Given the description of an element on the screen output the (x, y) to click on. 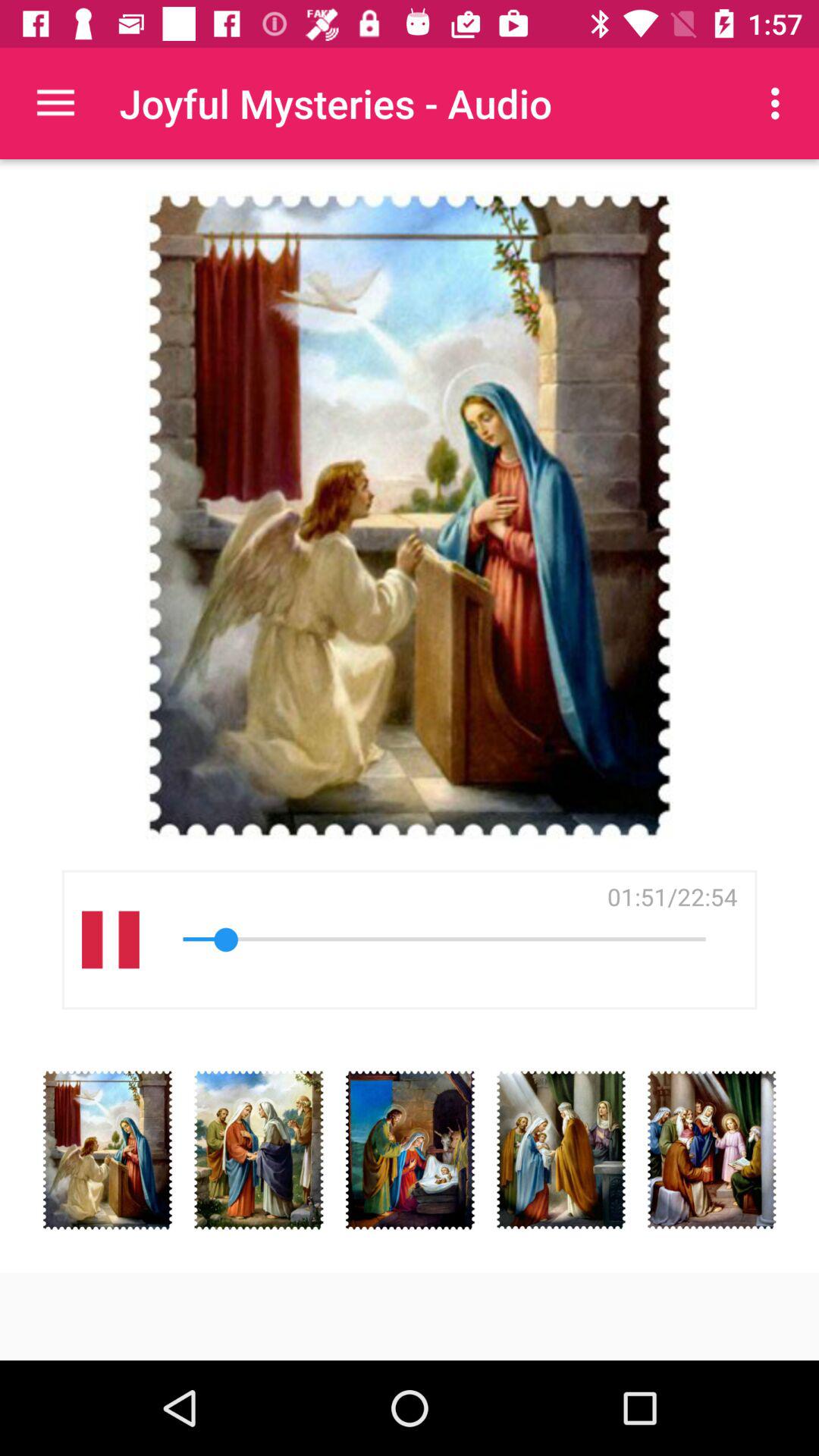
launch item to the left of the joyful mysteries - audio app (55, 103)
